Given the description of an element on the screen output the (x, y) to click on. 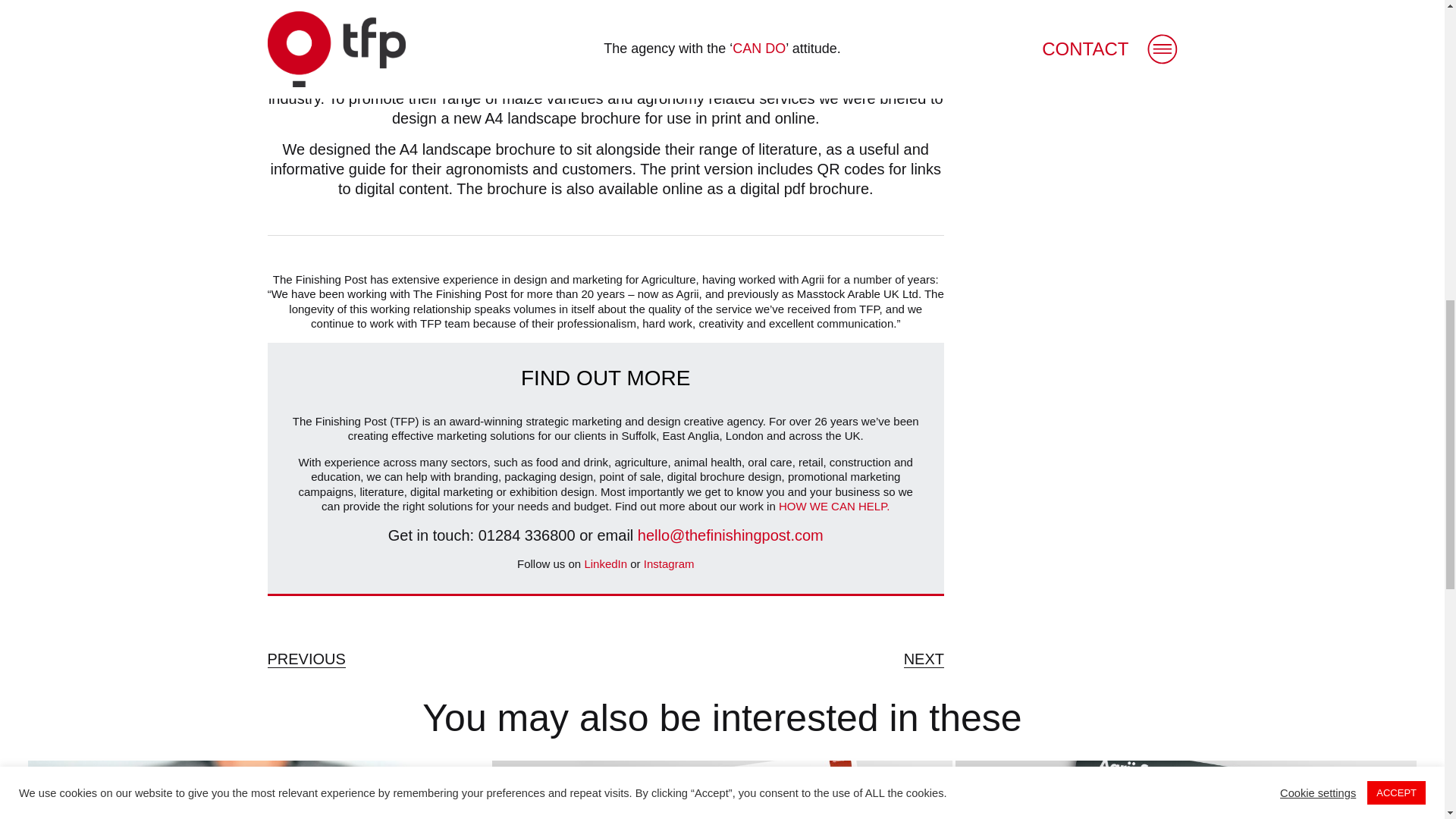
Instagram (668, 563)
HOW WE CAN HELP. (833, 505)
LinkedIn (605, 563)
NEXT (923, 659)
PREVIOUS (305, 659)
